Given the description of an element on the screen output the (x, y) to click on. 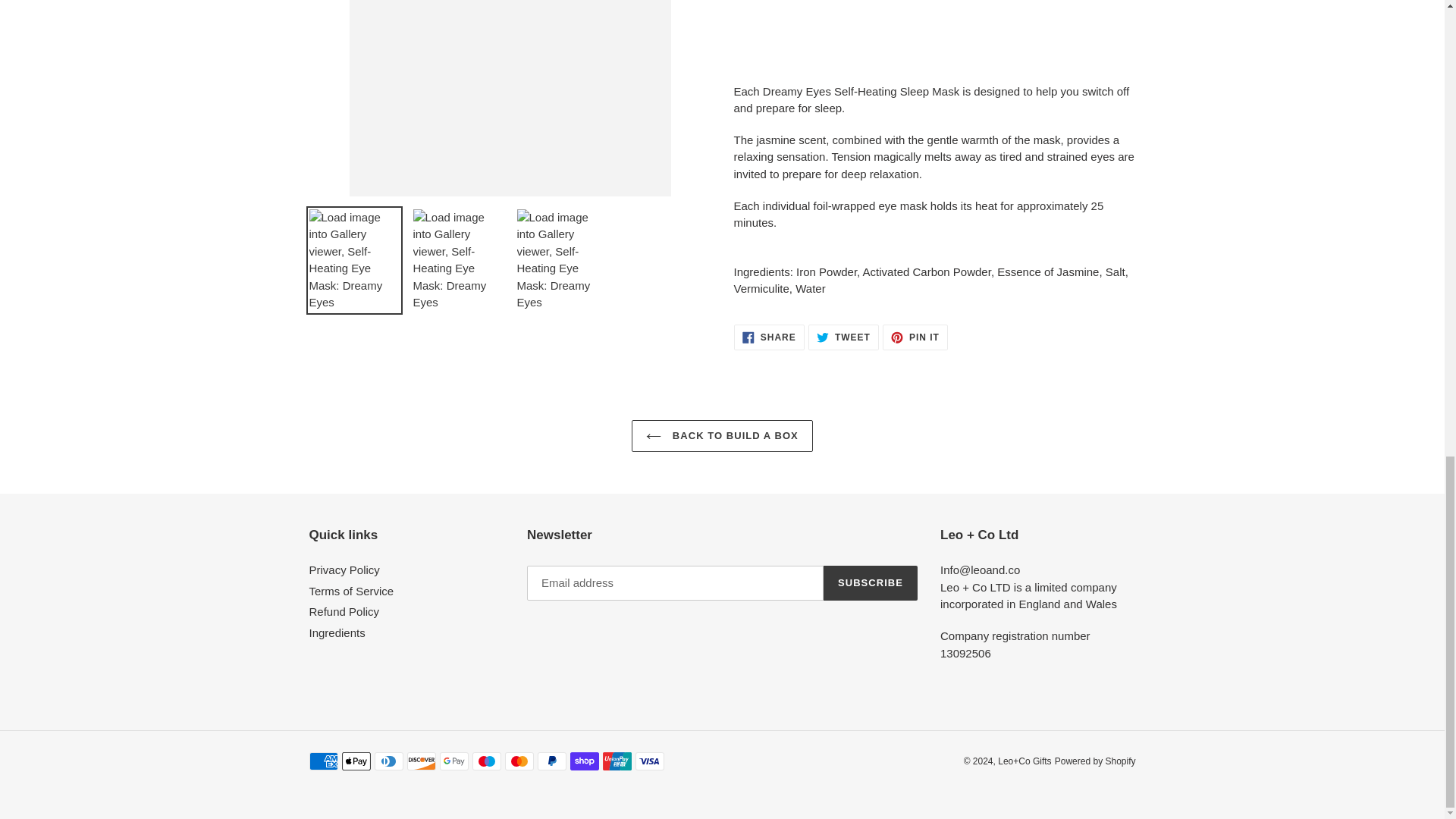
Terms of Service (843, 337)
Refund Policy (351, 590)
Ingredients (344, 611)
SUBSCRIBE (336, 632)
Powered by Shopify (769, 337)
BACK TO BUILD A BOX (914, 337)
Privacy Policy (870, 582)
